Given the description of an element on the screen output the (x, y) to click on. 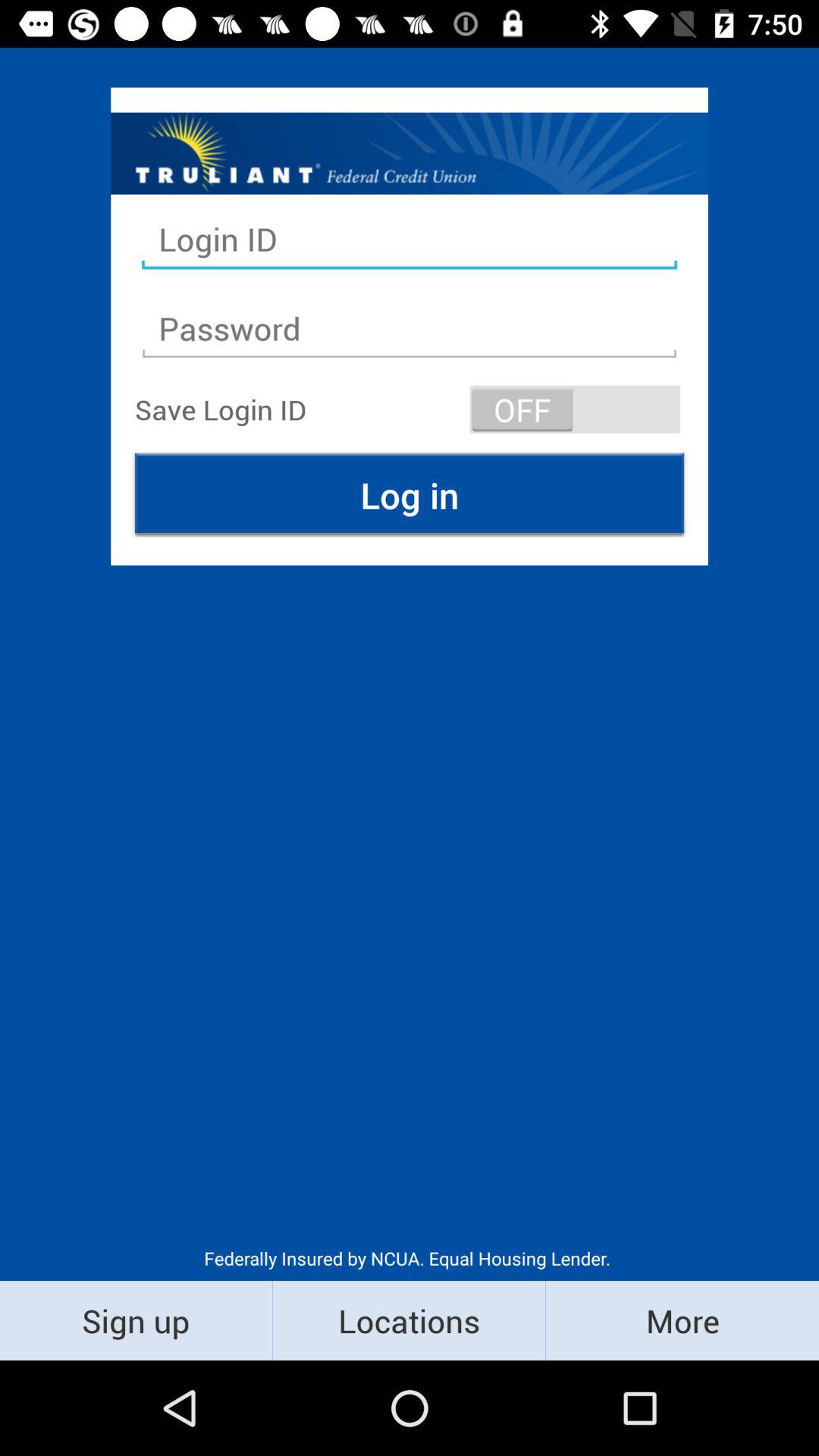
flip until the more icon (682, 1320)
